Given the description of an element on the screen output the (x, y) to click on. 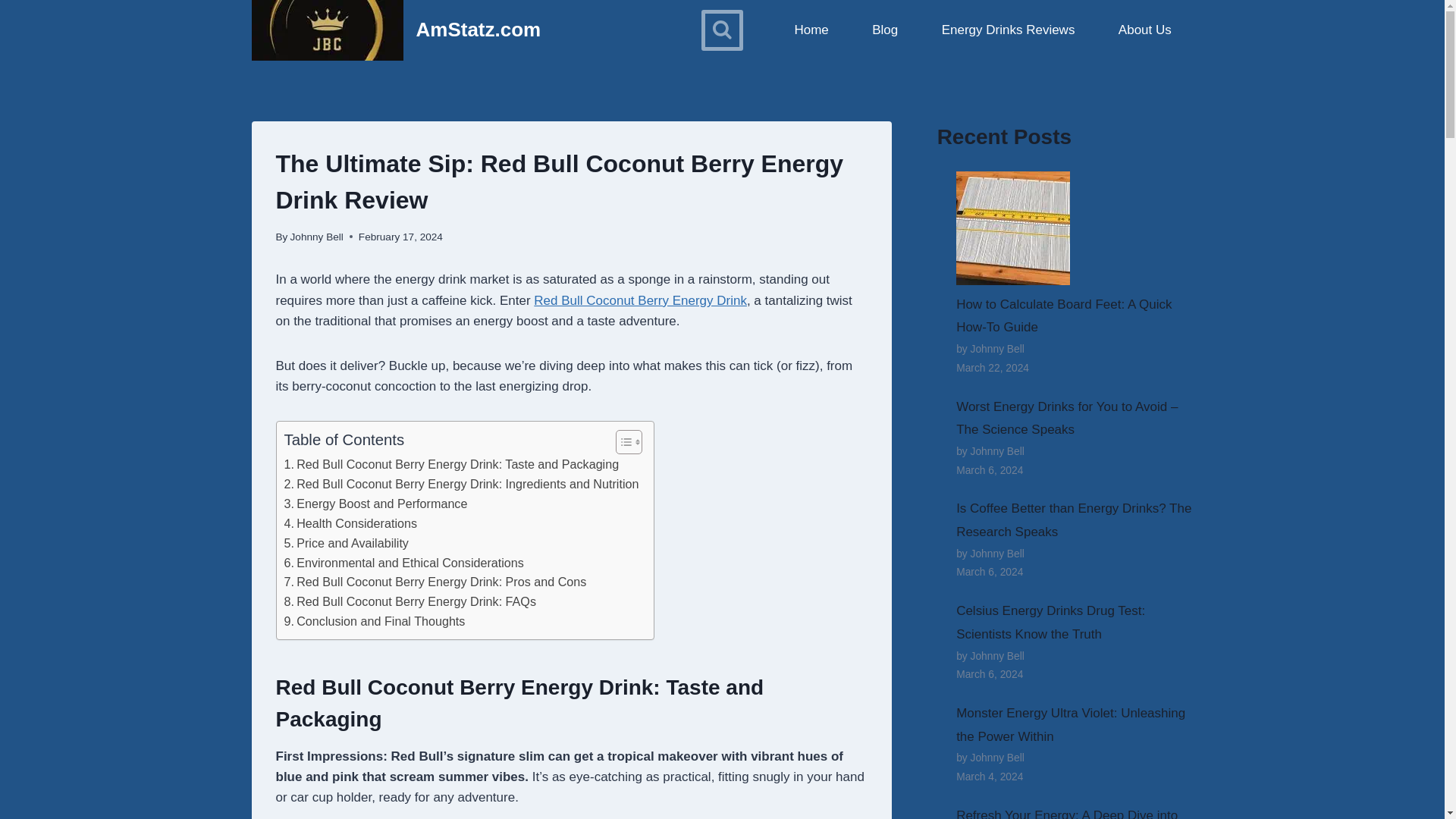
Red Bull Coconut Berry Energy Drink: FAQs (409, 601)
Johnny Bell (316, 236)
Health Considerations (349, 523)
Price and Availability (345, 543)
Red Bull Coconut Berry Energy Drink: Pros and Cons (434, 582)
Health Considerations (349, 523)
Red Bull Coconut Berry Energy Drink: FAQs (409, 601)
Red Bull Coconut Berry Energy Drink: Taste and Packaging (450, 465)
Price and Availability (345, 543)
Energy Boost and Performance (375, 504)
Environmental and Ethical Considerations (402, 563)
Energy Boost and Performance (375, 504)
Energy Drinks Reviews (1008, 29)
Red Bull Coconut Berry Energy Drink (640, 300)
